Given the description of an element on the screen output the (x, y) to click on. 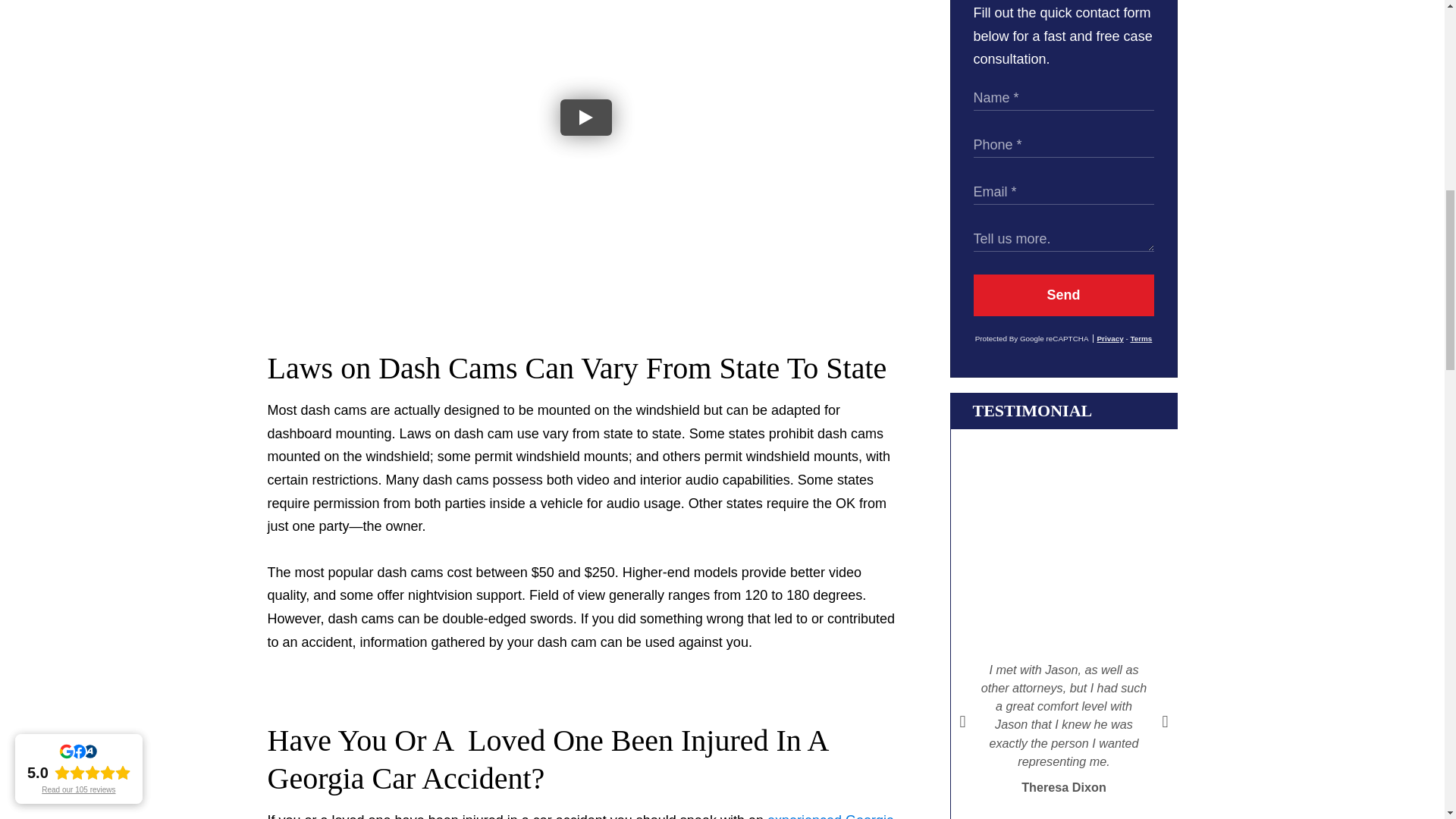
TESTIMONIAL (1032, 410)
Terms (1140, 338)
Privacy (1109, 338)
Send (1064, 295)
